Given the description of an element on the screen output the (x, y) to click on. 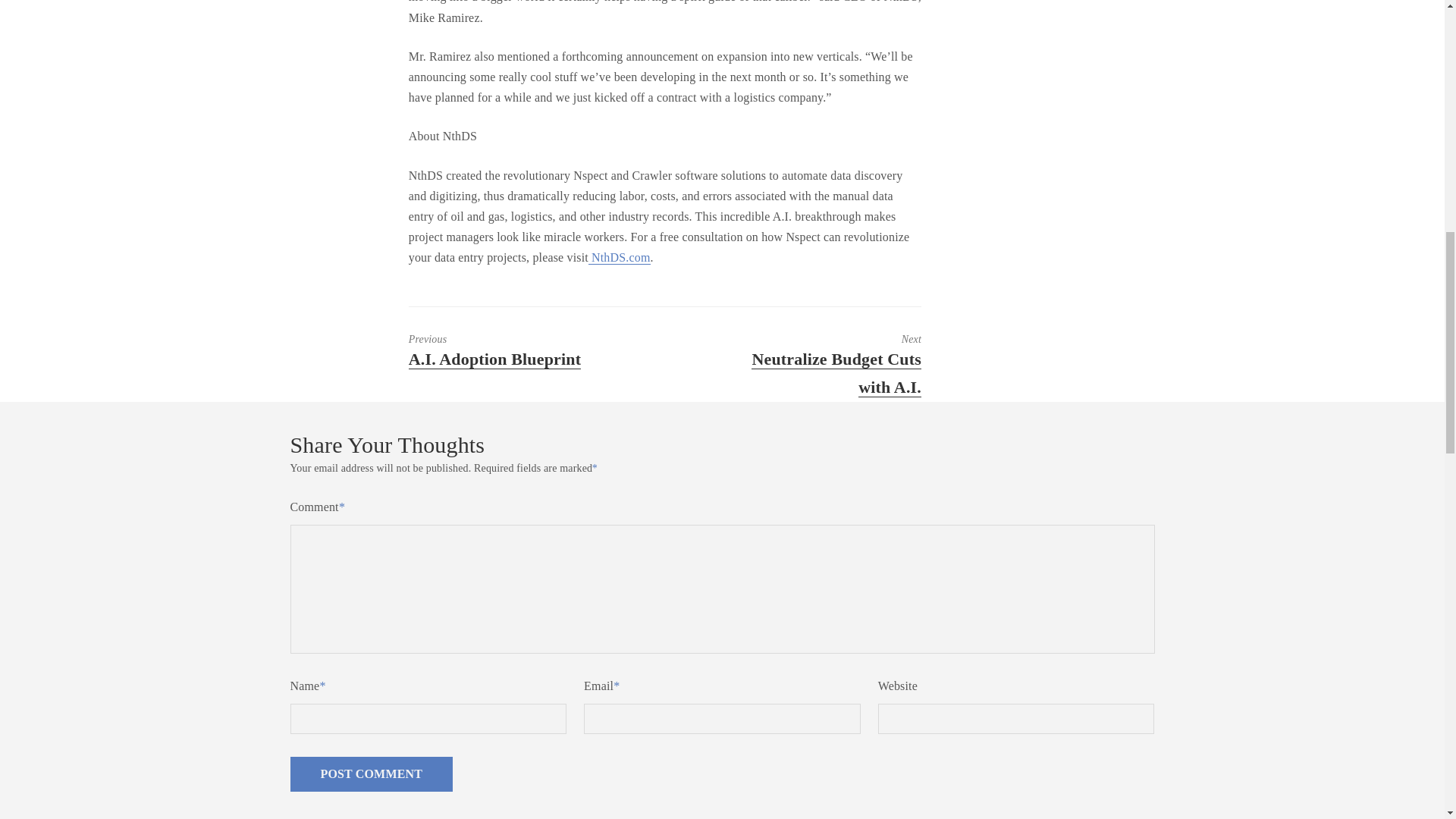
Post Comment (820, 364)
NthDS.com (508, 350)
